Given the description of an element on the screen output the (x, y) to click on. 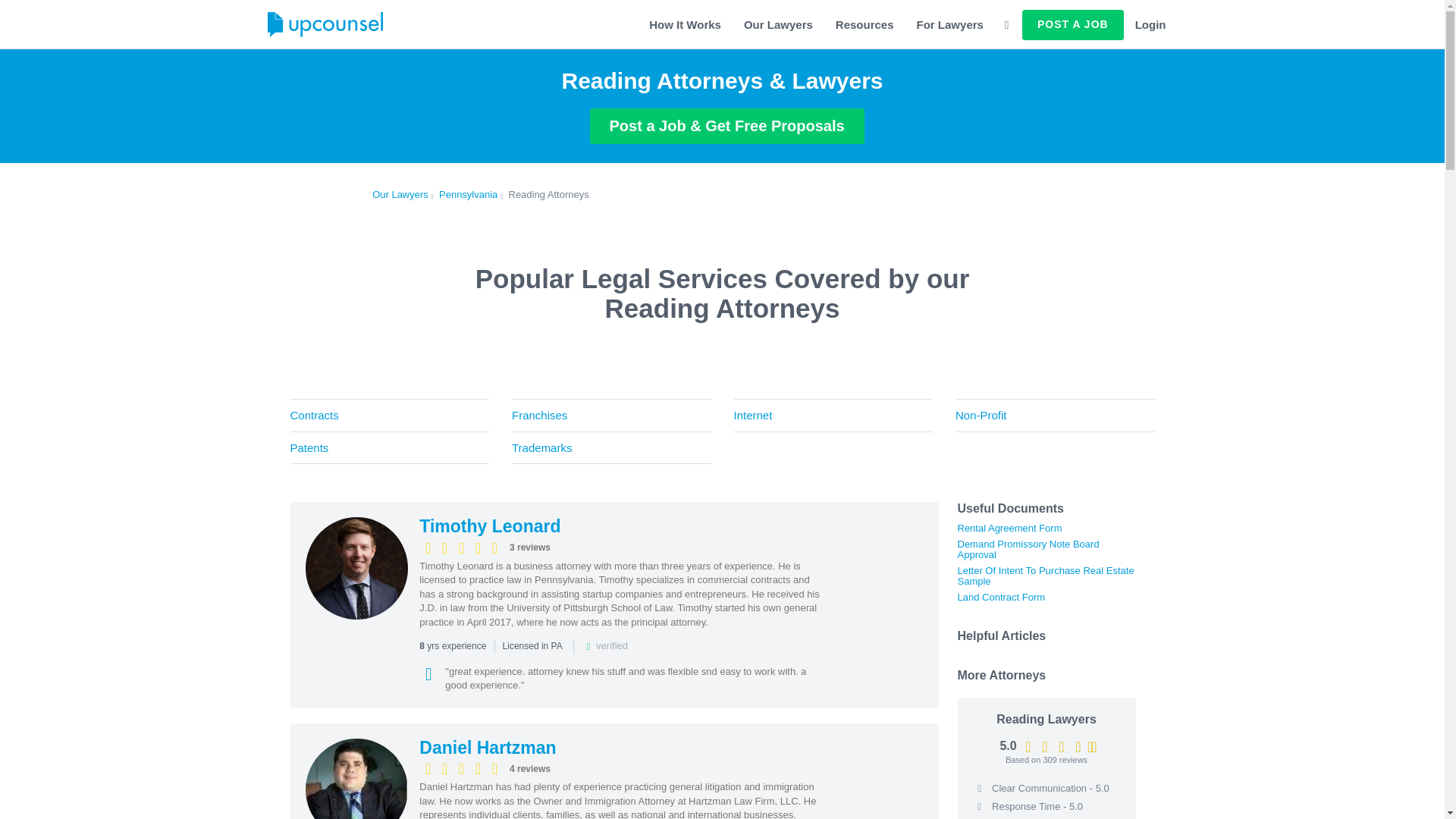
Franchises (611, 414)
Patents (389, 448)
Resources (864, 24)
Contracts (389, 414)
Internet (833, 414)
How It Works (684, 24)
Pennsylvania (468, 194)
For Lawyers (949, 24)
Reading Attorneys (548, 194)
Trademarks (611, 448)
